Given the description of an element on the screen output the (x, y) to click on. 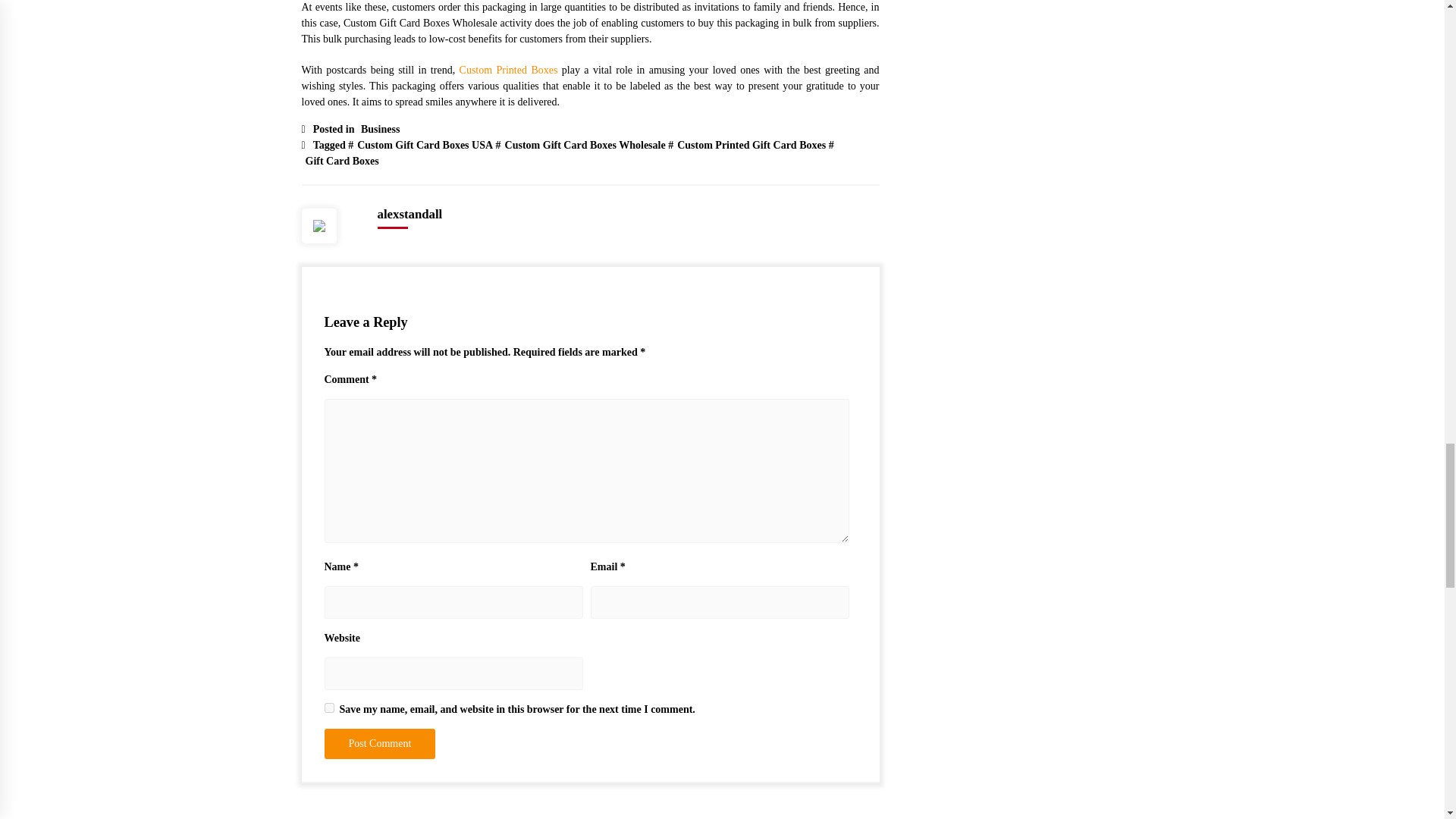
Post Comment (379, 743)
yes (329, 707)
